Given the description of an element on the screen output the (x, y) to click on. 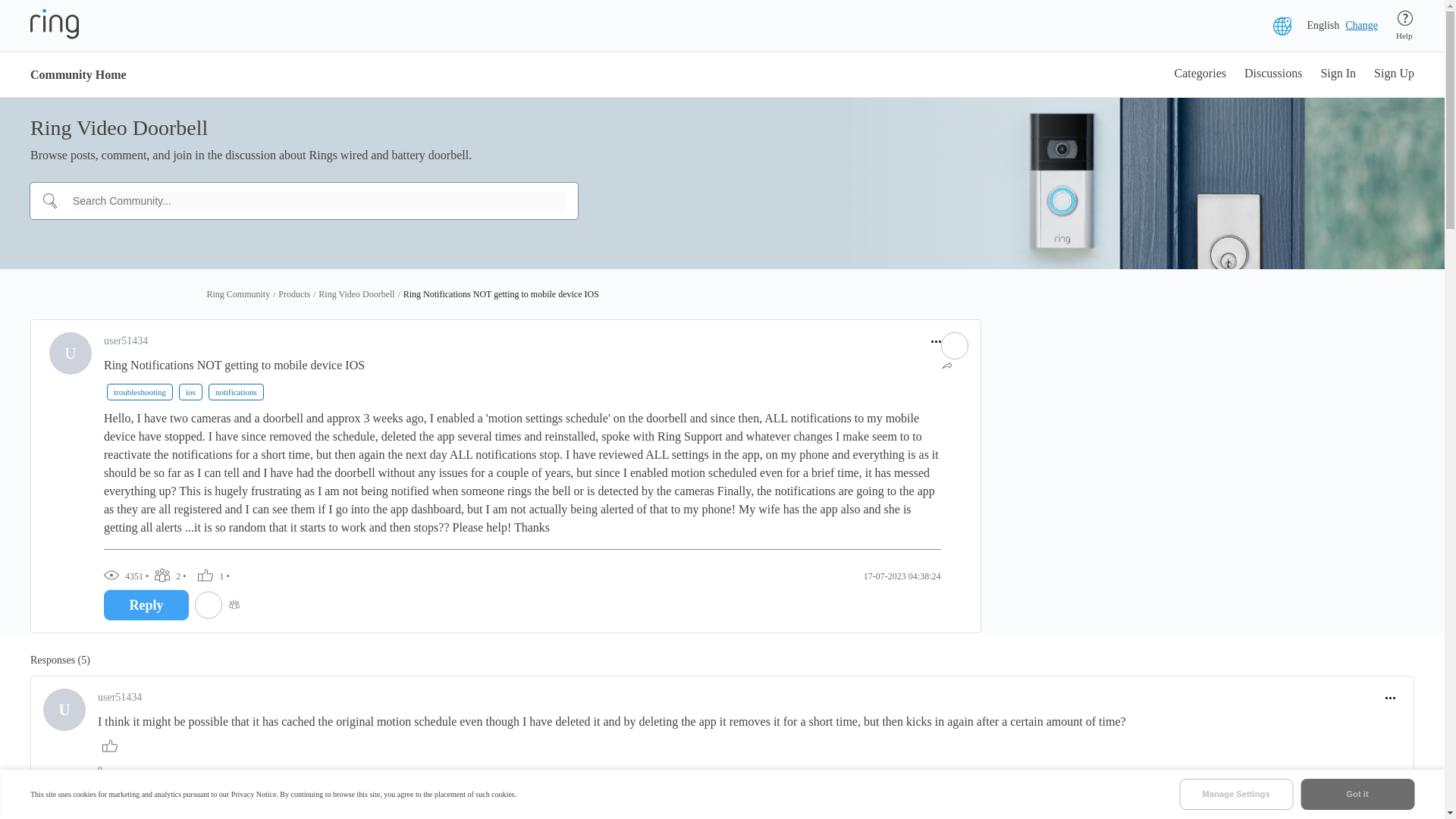
Categories (1199, 74)
user51434 (119, 697)
Reply (146, 604)
Discussions (1272, 74)
Community Home (78, 74)
Sign Up (1393, 74)
Products (294, 294)
Change (1361, 25)
Ring Community (237, 294)
Ring Video Doorbell (356, 294)
